Given the description of an element on the screen output the (x, y) to click on. 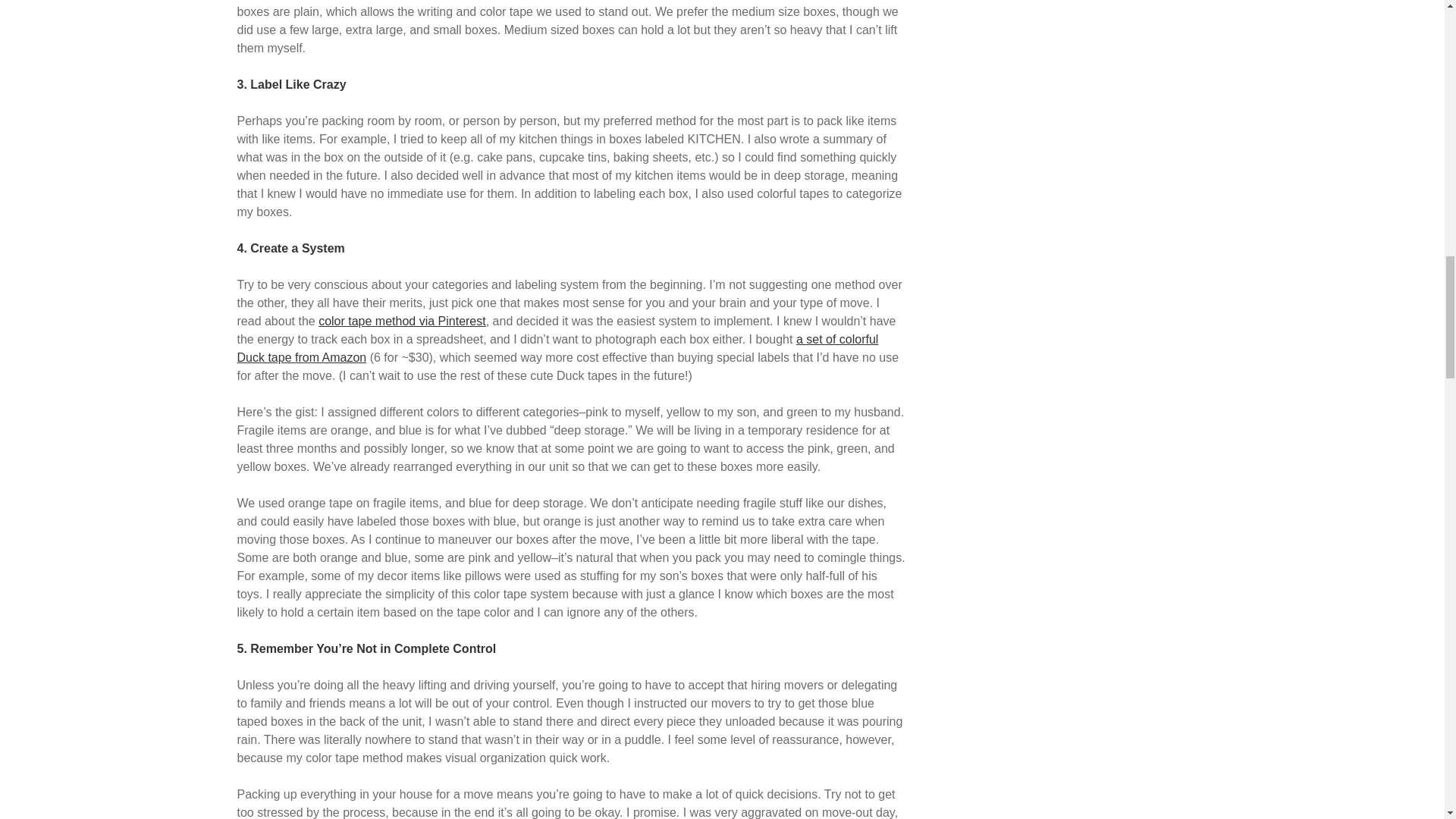
a set of colorful Duck tape from Amazon (556, 347)
color tape method via Pinterest (402, 320)
